Given the description of an element on the screen output the (x, y) to click on. 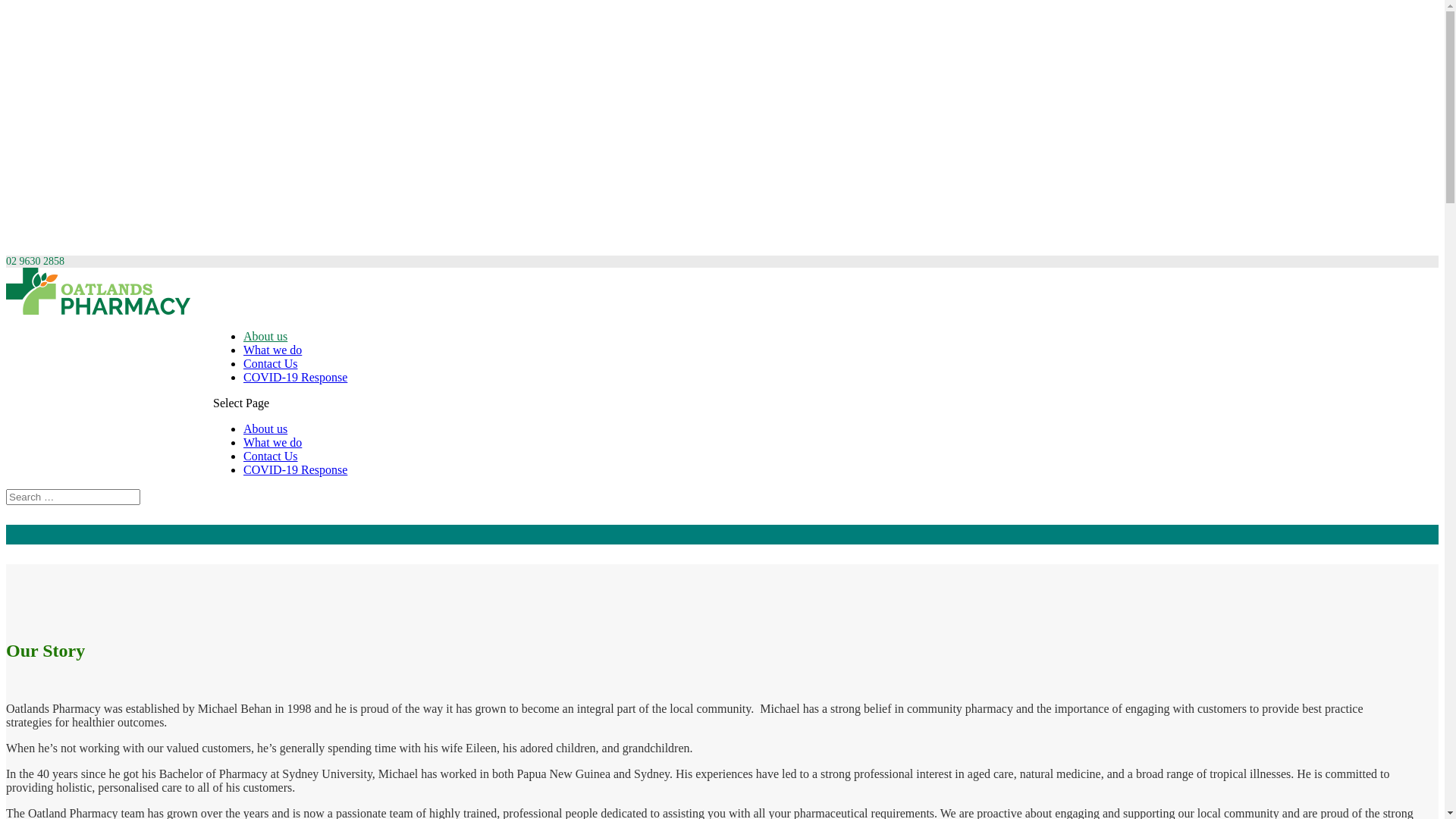
About us Element type: text (265, 428)
What we do Element type: text (272, 442)
COVID-19 Response Element type: text (295, 469)
Contact Us Element type: text (270, 455)
What we do Element type: text (272, 349)
Search for: Element type: hover (73, 497)
COVID-19 Response Element type: text (295, 376)
About us Element type: text (265, 335)
Contact Us Element type: text (270, 363)
